Given the description of an element on the screen output the (x, y) to click on. 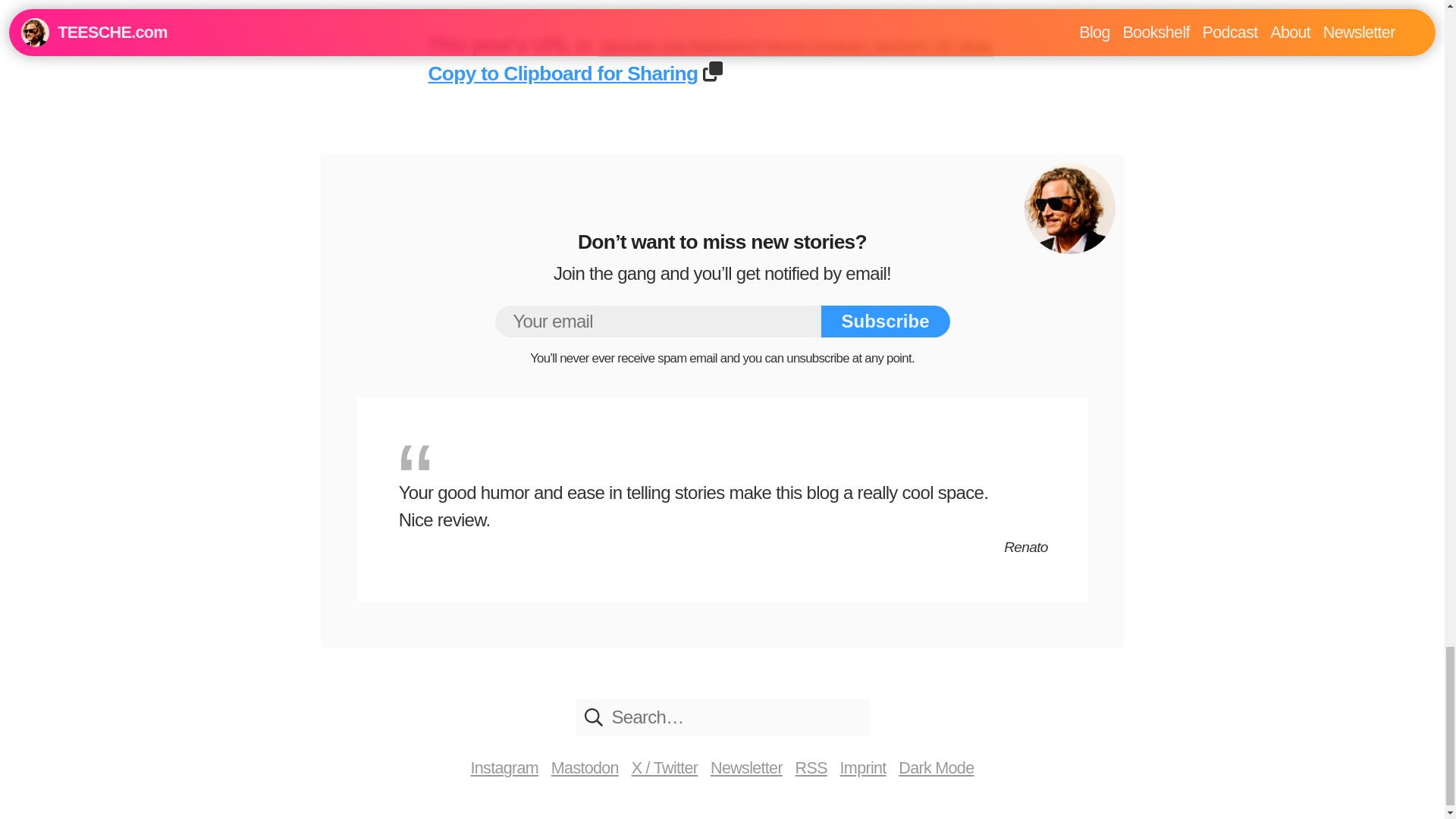
Newsletter (746, 768)
RSS (810, 768)
Follow me on Mastodon (584, 768)
Instagram (504, 768)
Subscribe (885, 321)
Imprint (863, 768)
Copy to Clipboard for Sharing (562, 73)
Subscribe to the Newsletter (746, 768)
Add the RSS Feed to your Reader (810, 768)
Follow on Instagram (504, 768)
Mastodon (584, 768)
